Given the description of an element on the screen output the (x, y) to click on. 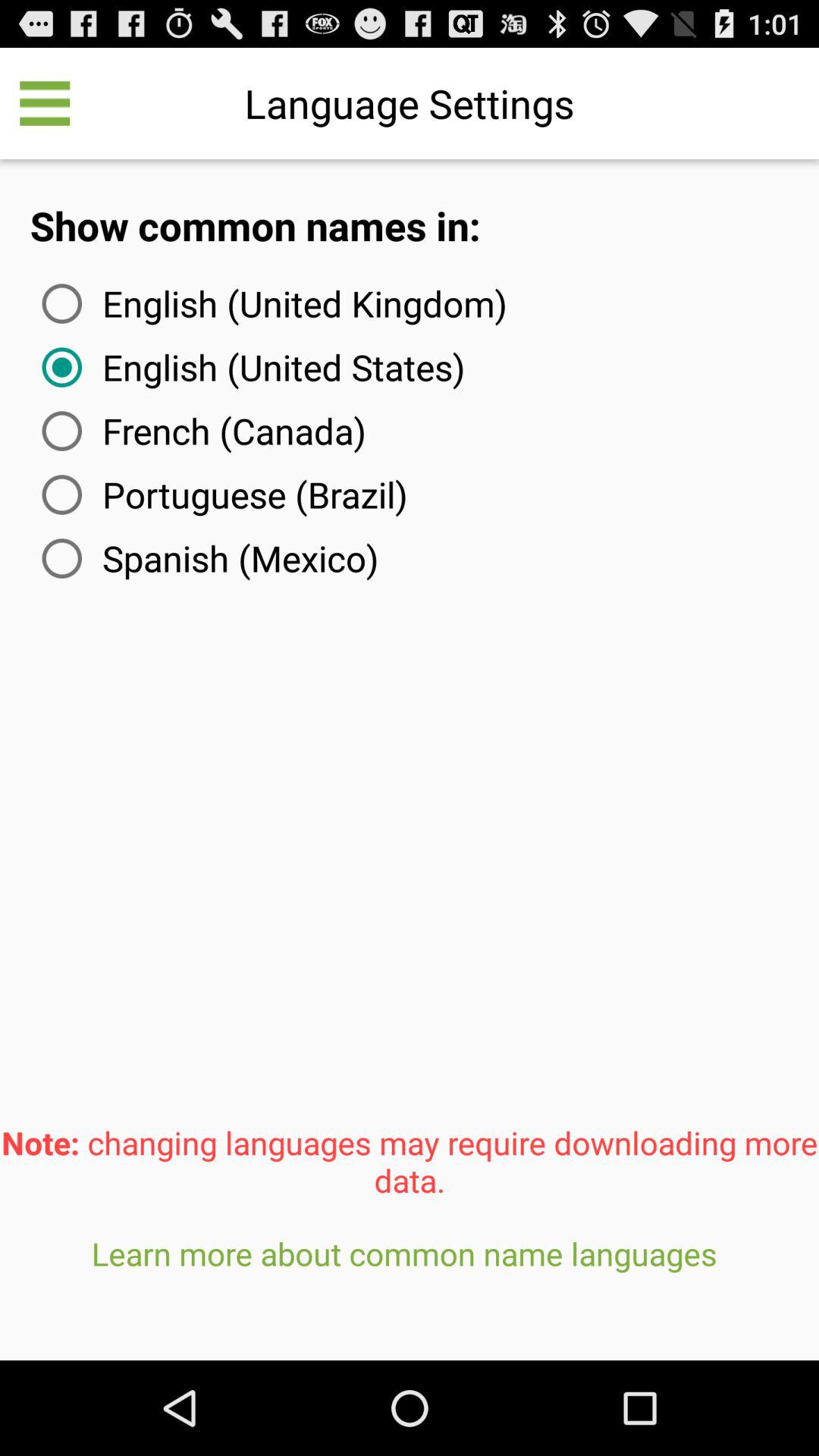
open spanish (mexico) icon (207, 558)
